Given the description of an element on the screen output the (x, y) to click on. 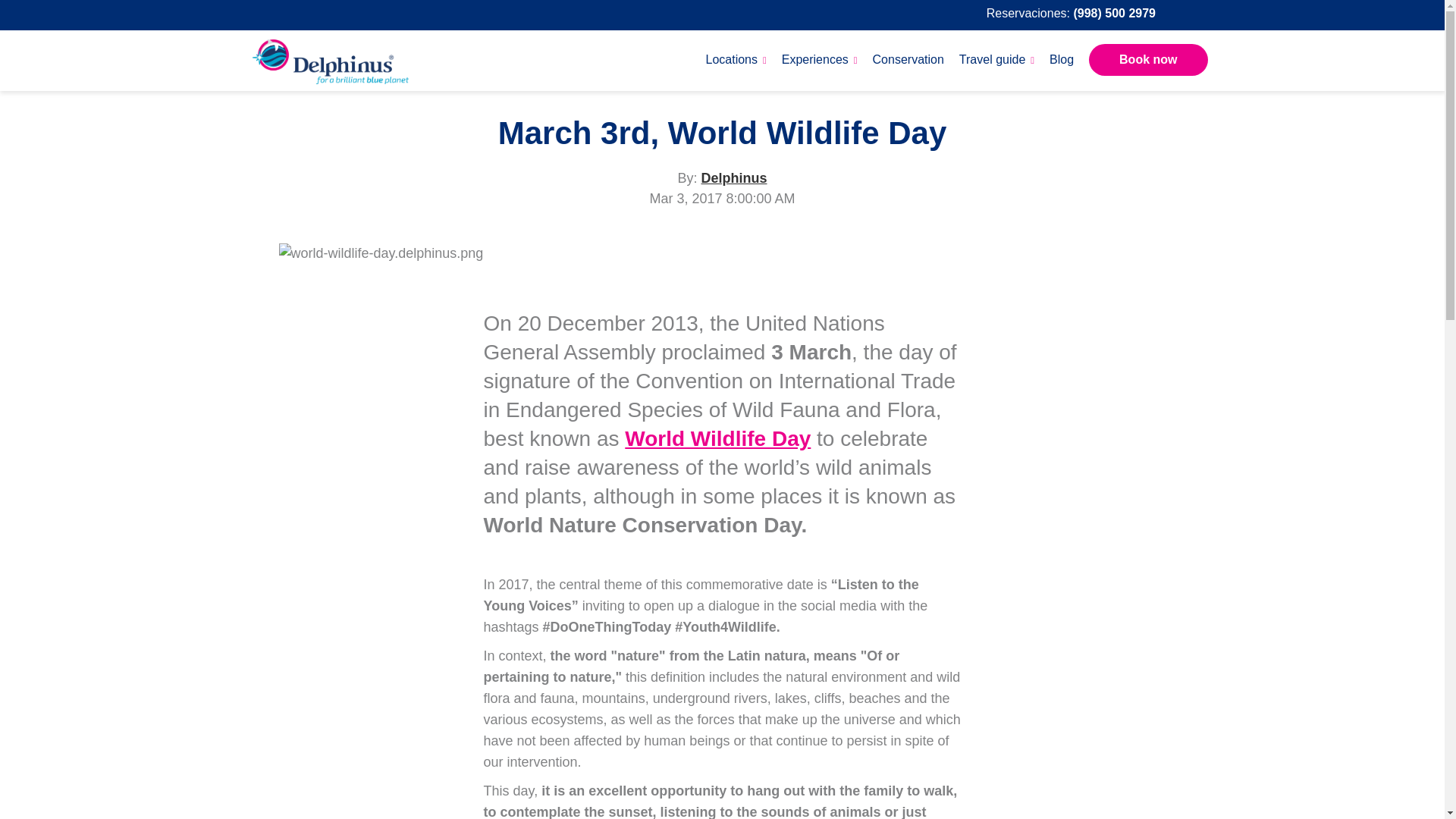
Book now (1148, 60)
Delphinus (733, 177)
Logo Delphinus nado con delfines (329, 61)
Conservation (907, 59)
Travel guide (996, 59)
Locations (734, 59)
Experiences (819, 59)
World Wildlife Day (717, 438)
